Given the description of an element on the screen output the (x, y) to click on. 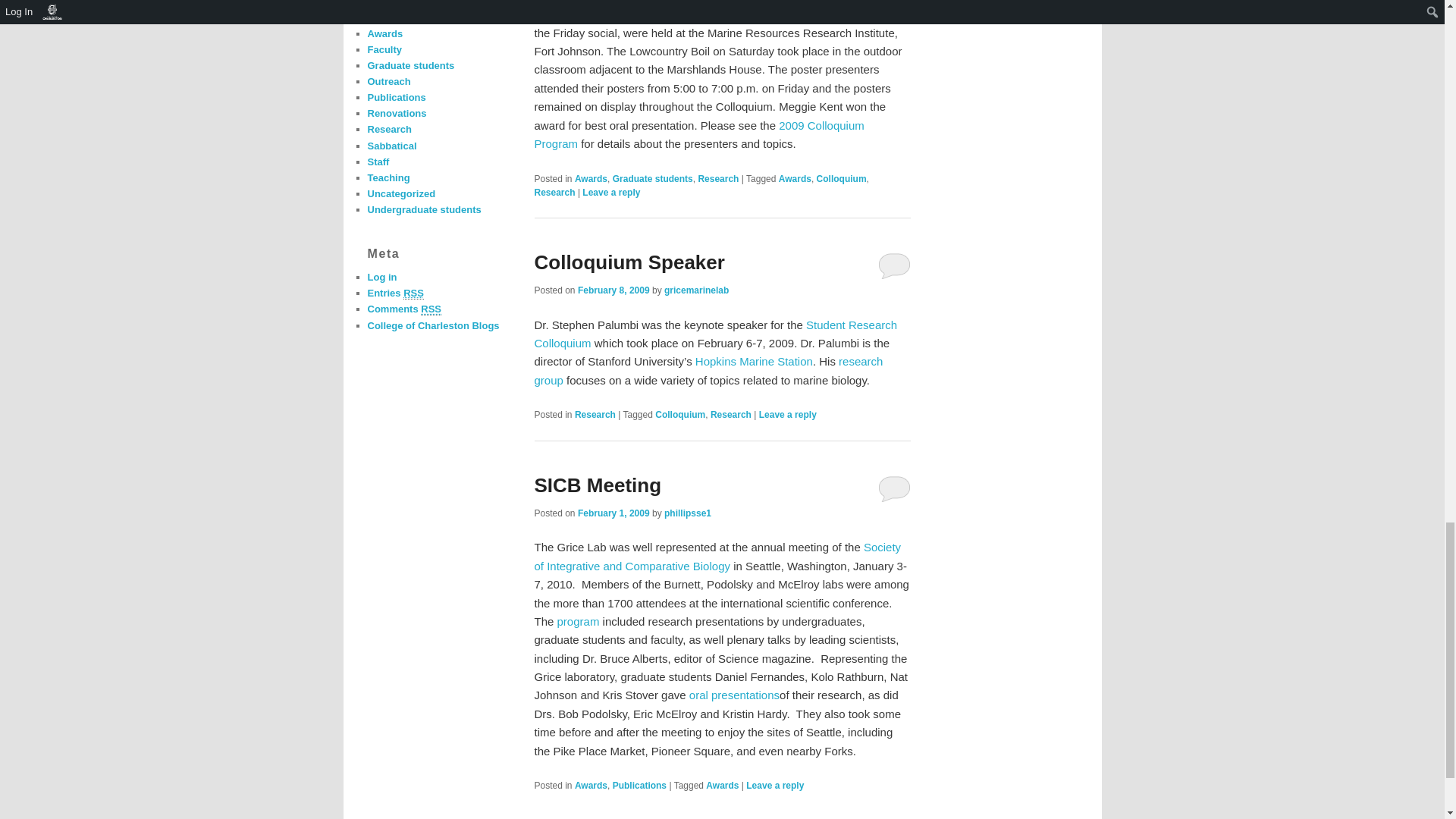
2009 Colloquium Program (698, 133)
Permalink to Colloquium Speaker (628, 261)
6:45 pm (613, 290)
Awards (591, 178)
View all posts by gricemarinelab (696, 290)
Colloquium (841, 178)
Permalink to SICB Meeting (597, 485)
Graduate students (652, 178)
7:41 pm (613, 512)
Research (717, 178)
